Given the description of an element on the screen output the (x, y) to click on. 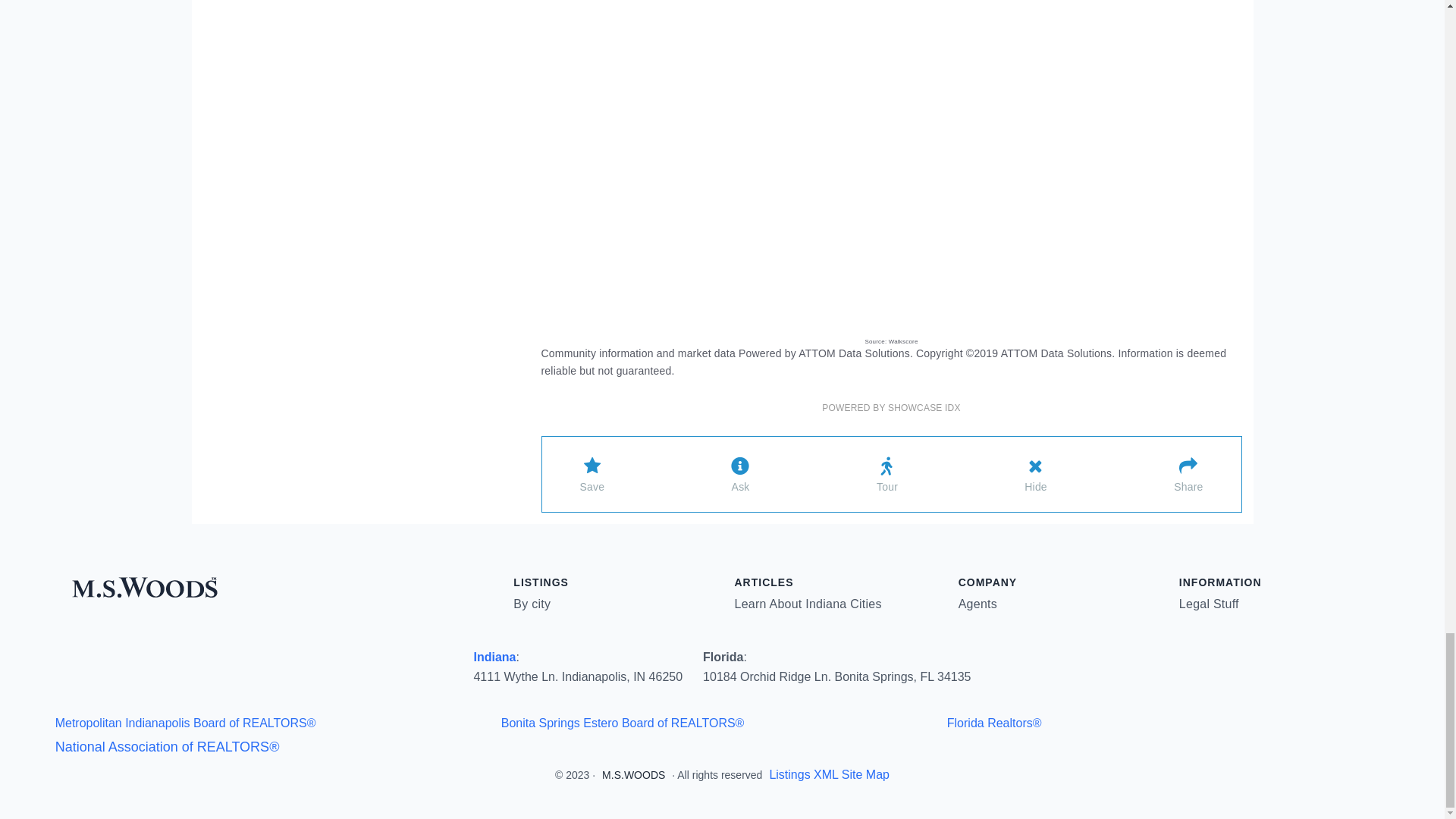
Legal Stuff (1209, 604)
Learn About Indiana Cities (806, 604)
By city (531, 604)
POWERED BY SHOWCASE IDX (890, 407)
M.S.WOODS (633, 775)
Indiana (494, 656)
Listings XML Site Map (828, 774)
Agents (977, 604)
